Given the description of an element on the screen output the (x, y) to click on. 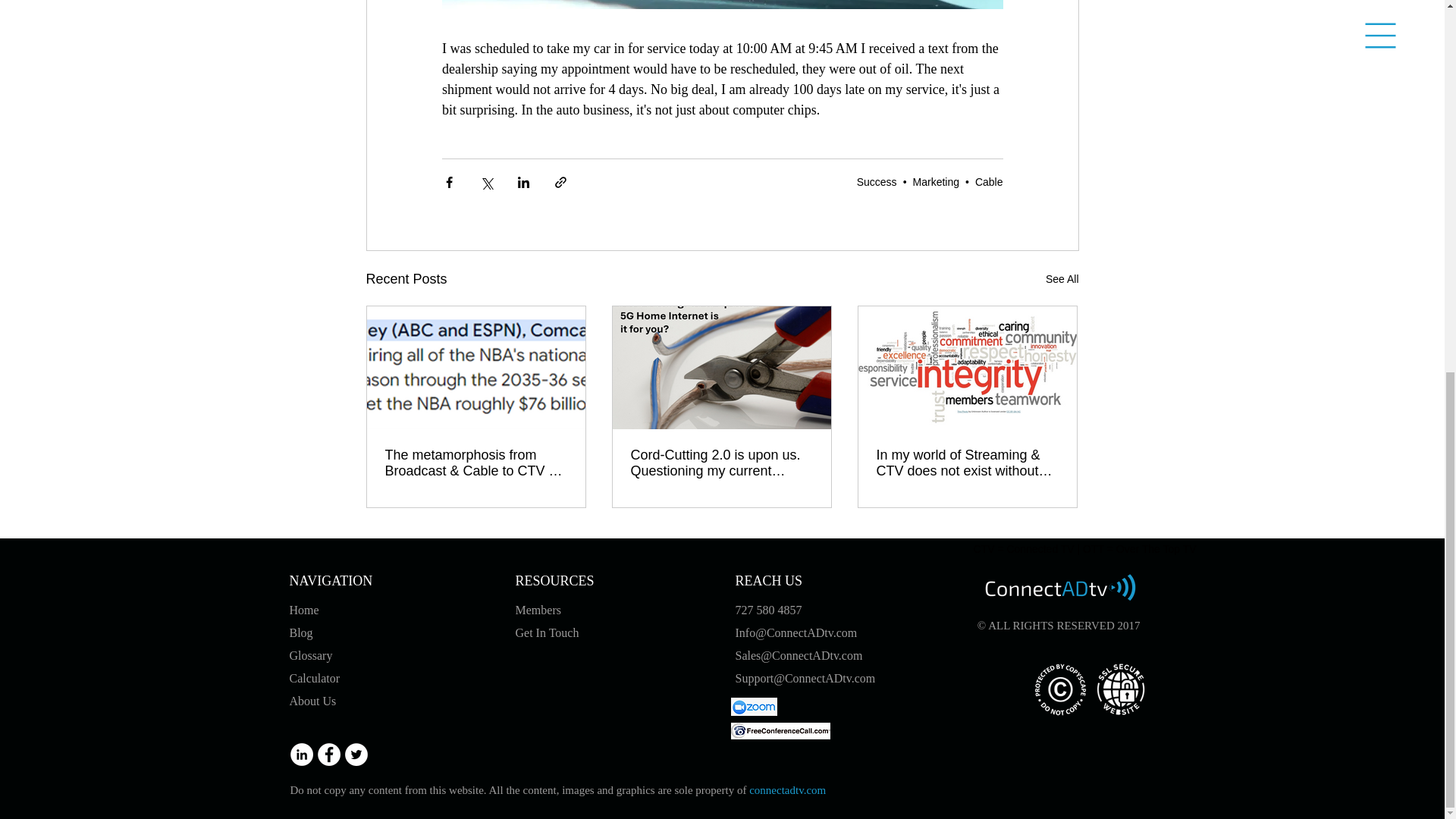
Success (876, 182)
Blog (301, 632)
Cable (989, 182)
See All (1061, 279)
Home (305, 610)
Marketing (935, 182)
